Given the description of an element on the screen output the (x, y) to click on. 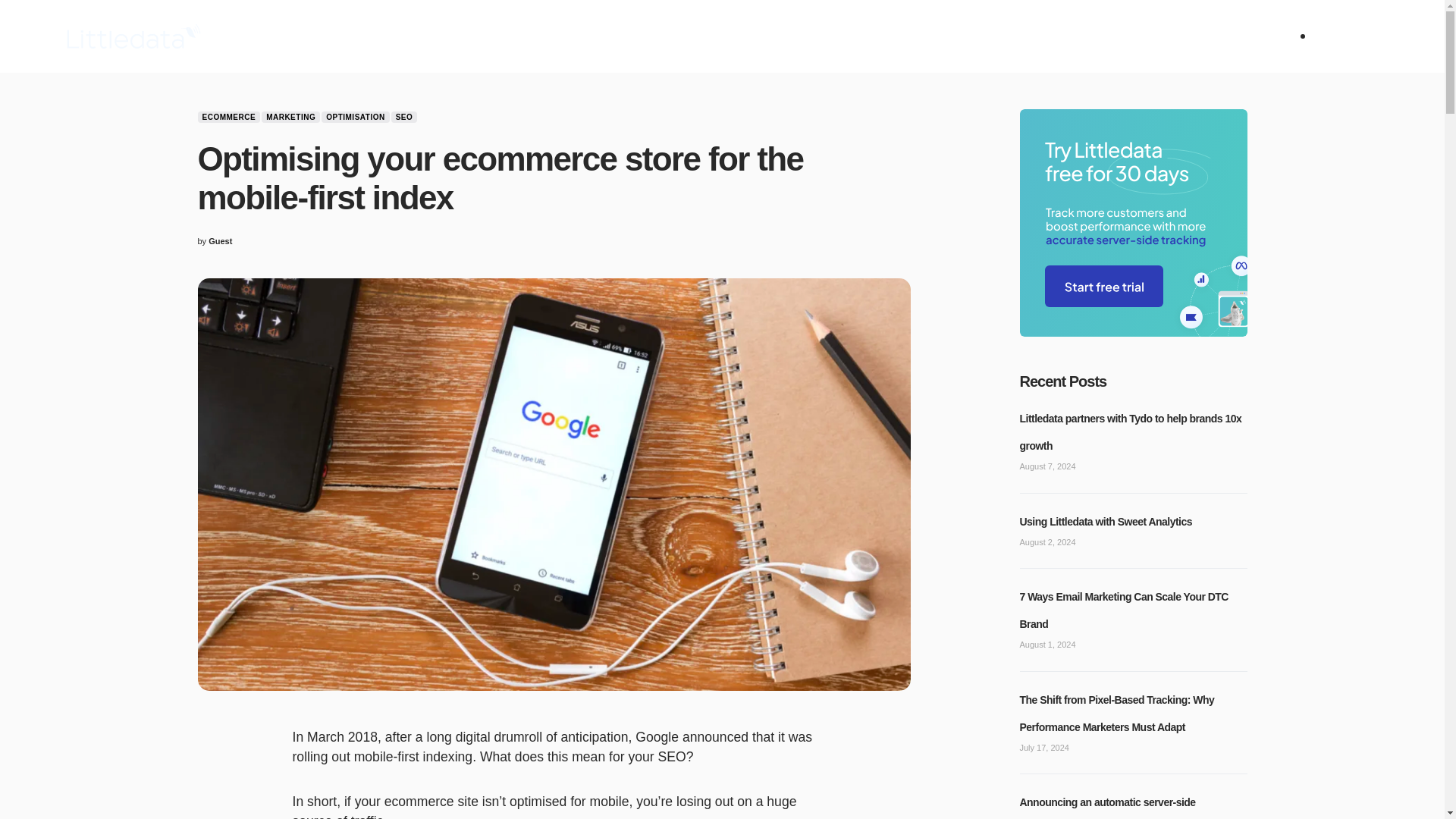
View all posts by Guest (219, 241)
HELP CENTER (475, 36)
START FREE TRIAL (639, 36)
